Given the description of an element on the screen output the (x, y) to click on. 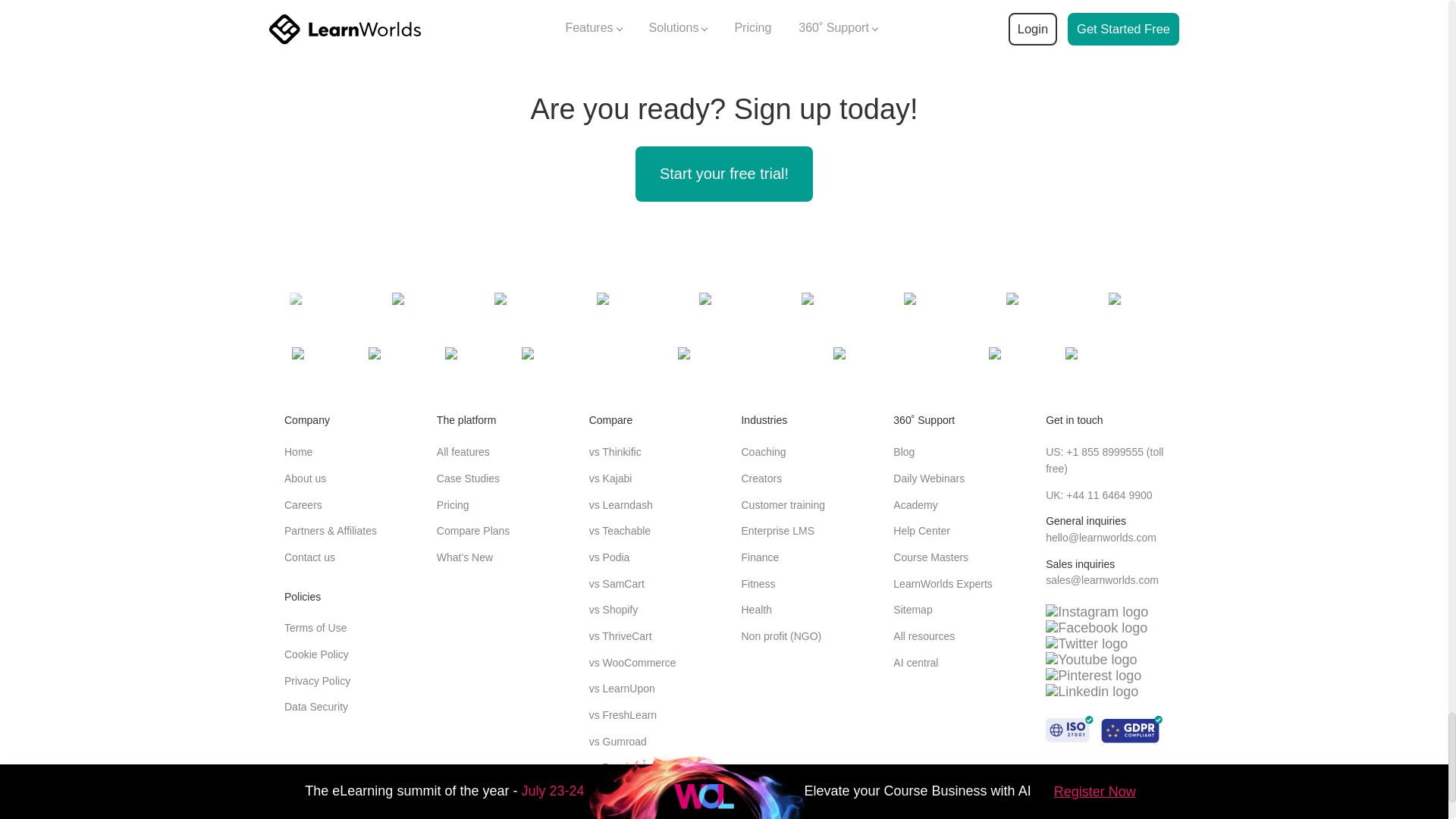
send email to LearnWorlds (1100, 537)
send email to LearnWorlds (1101, 580)
